Given the description of an element on the screen output the (x, y) to click on. 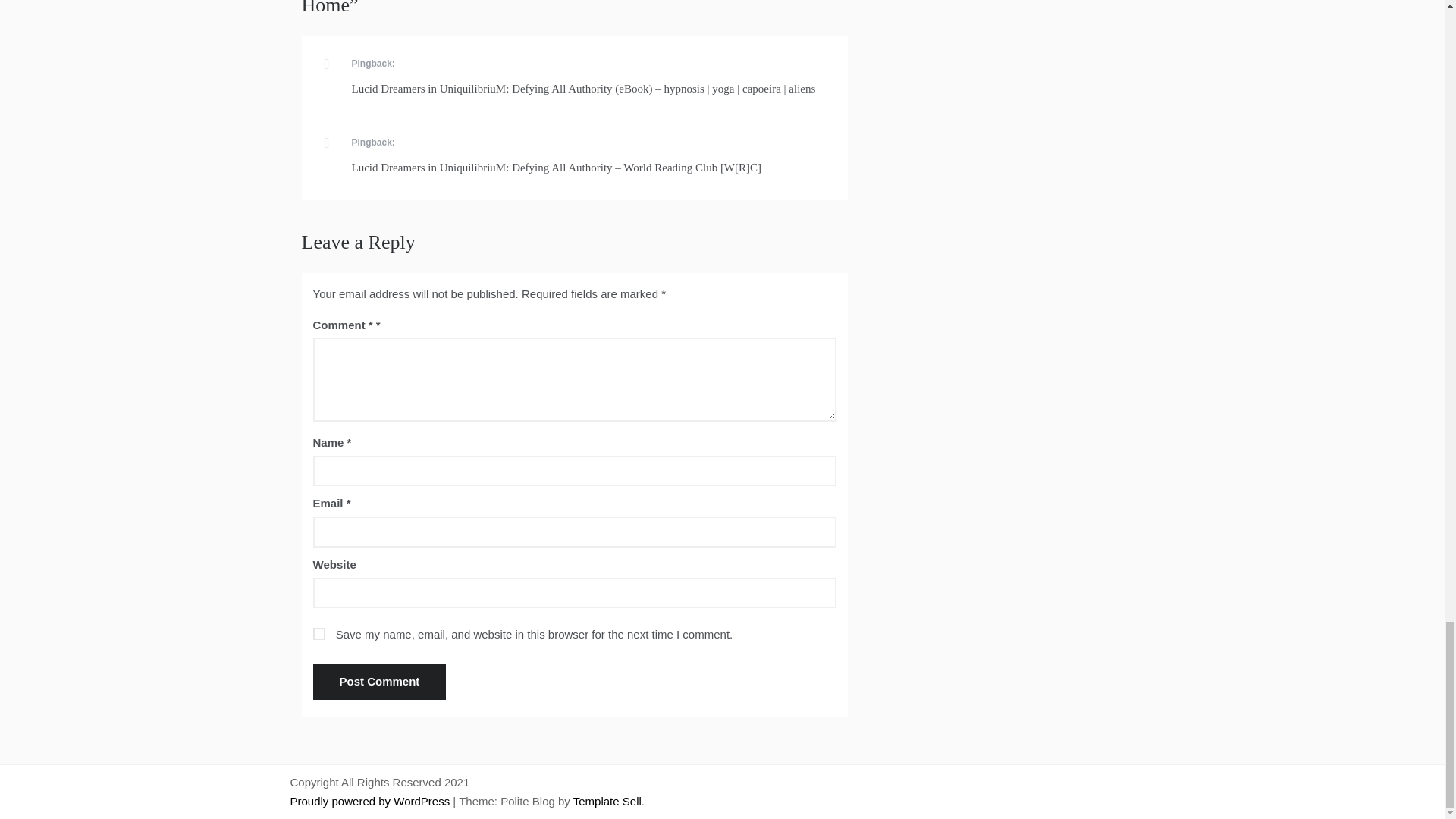
Post Comment (379, 681)
yes (318, 633)
